Given the description of an element on the screen output the (x, y) to click on. 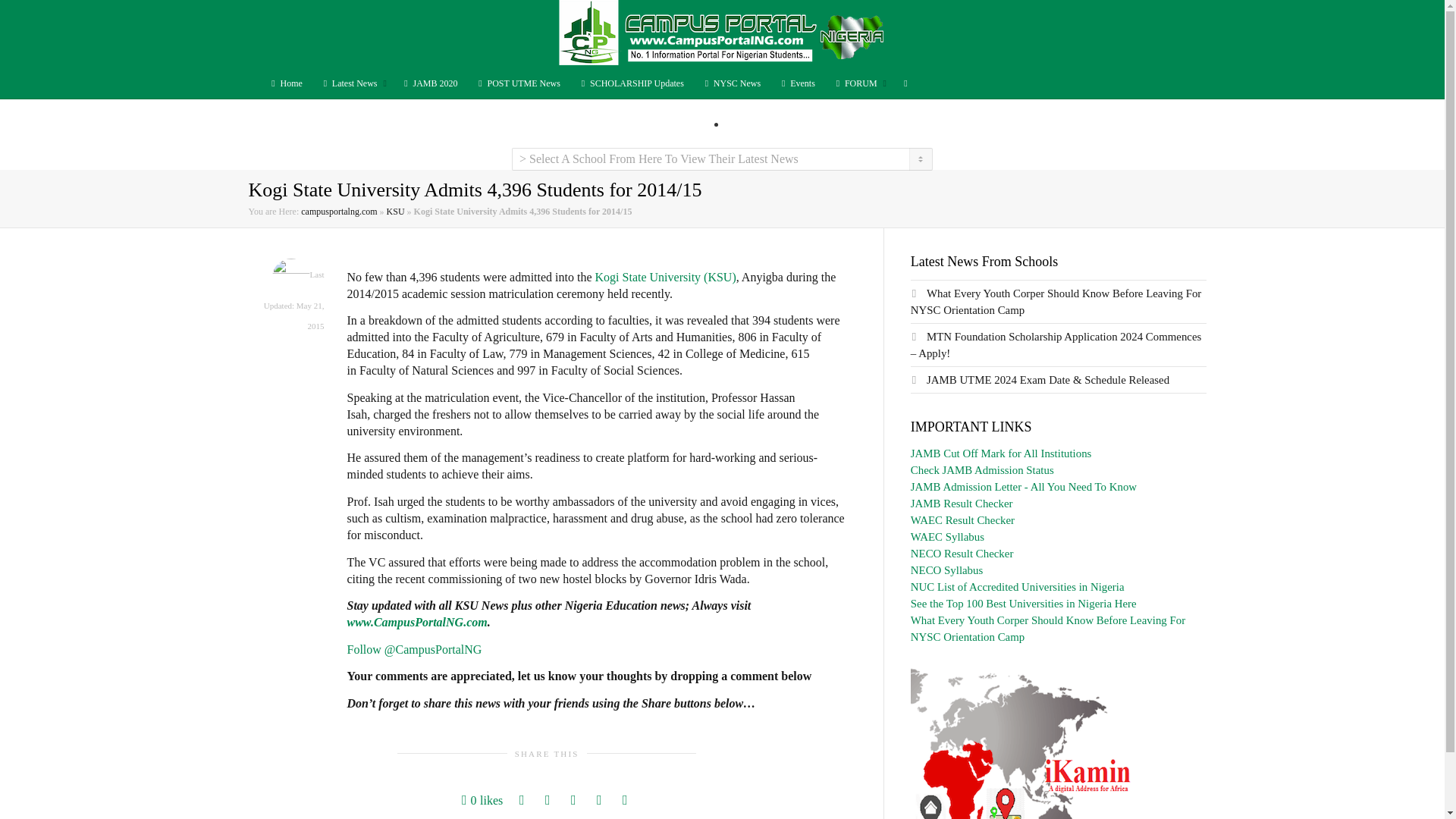
Nigeria Students forum (857, 82)
0 likes (481, 800)
Campus Portal Nigeria (721, 32)
Latest News (352, 82)
JAMB Admission Letter - All You Need To Know (1024, 486)
Latest JAMB News (429, 82)
WAEC Syllabus (947, 536)
www.CampusPortalNG.com (417, 621)
Last Updated: May 21, 2015 (293, 300)
JAMB 2020 (429, 82)
FORUM (857, 82)
Home (284, 82)
POST UTME News (518, 82)
View all POSTS by CampusPortalNGStaff2 (291, 276)
